Given the description of an element on the screen output the (x, y) to click on. 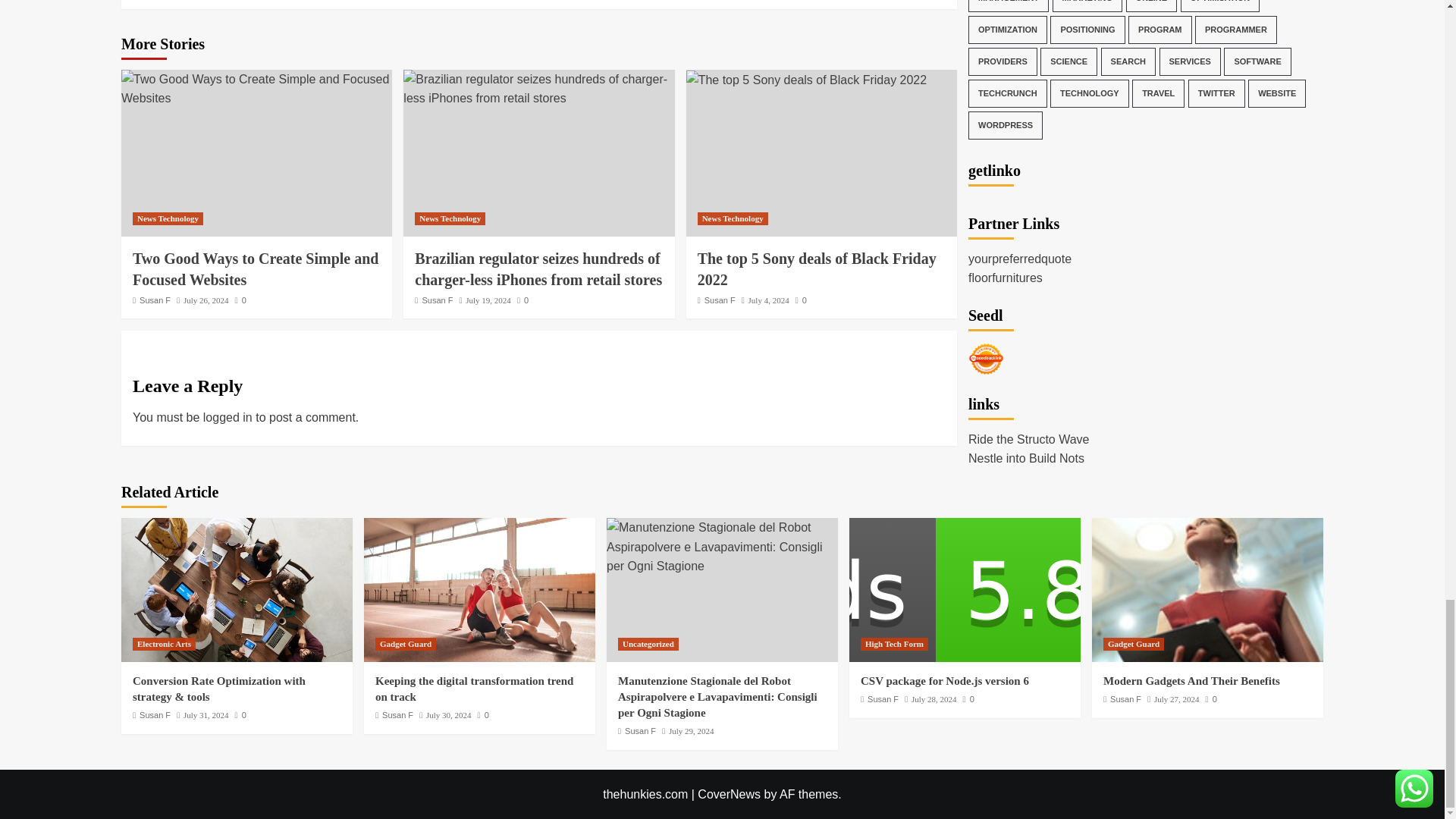
July 19, 2024 (488, 299)
News Technology (167, 218)
Two Good Ways to Create Simple and Focused Websites (255, 269)
Two Good Ways to Create Simple and Focused Websites (255, 88)
Susan F (437, 299)
July 26, 2024 (205, 299)
News Technology (449, 218)
The top 5 Sony deals of Black Friday 2022 (806, 80)
0 (240, 299)
Susan F (154, 299)
